Given the description of an element on the screen output the (x, y) to click on. 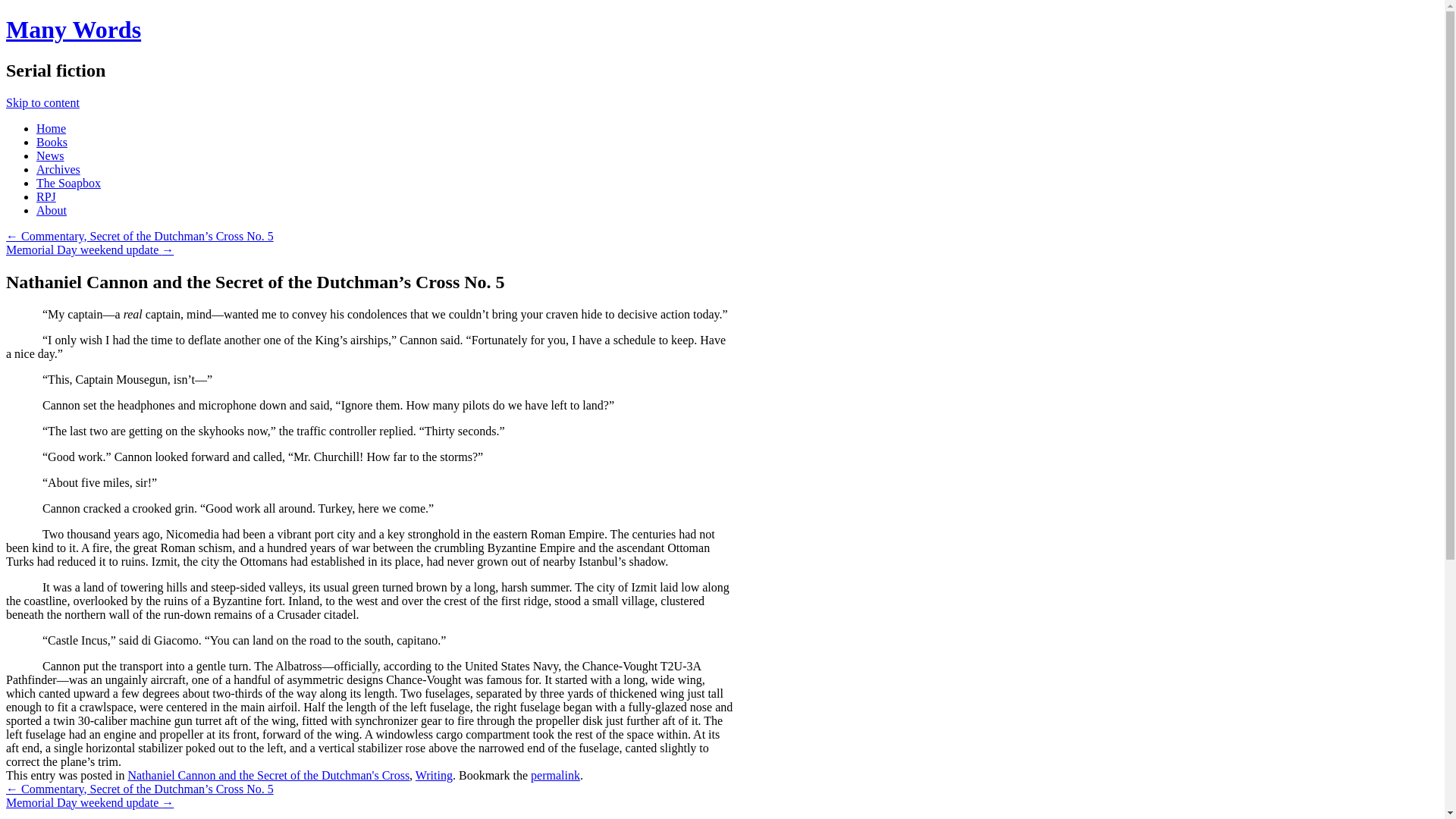
The Soapbox (68, 182)
Writing (433, 775)
Archives (58, 169)
RPJ (46, 196)
permalink (555, 775)
Many Words (73, 29)
Home (50, 128)
News (50, 155)
Skip to content (42, 102)
About (51, 210)
Nathaniel Cannon and the Secret of the Dutchman's Cross (268, 775)
Skip to content (42, 102)
Many Words (73, 29)
Books (51, 141)
